Given the description of an element on the screen output the (x, y) to click on. 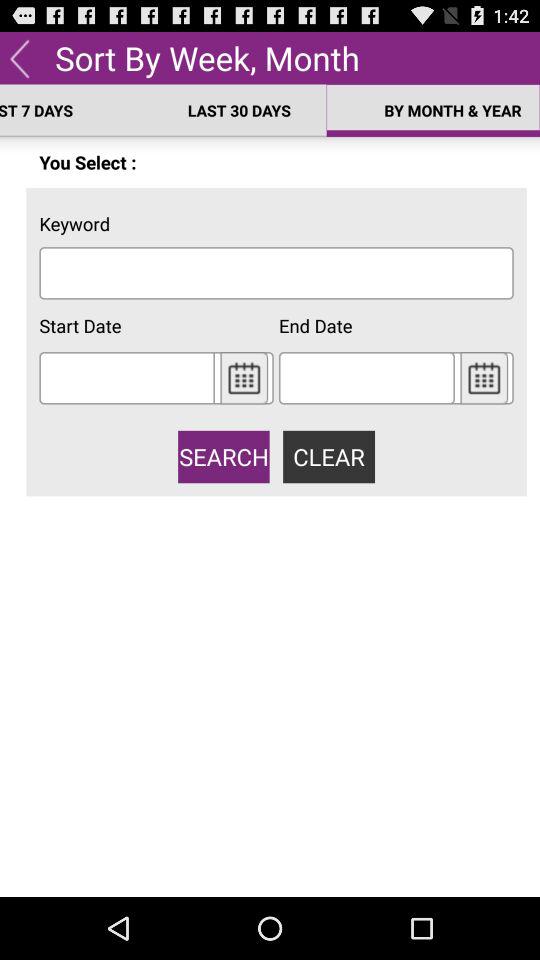
press clear (328, 456)
